Given the description of an element on the screen output the (x, y) to click on. 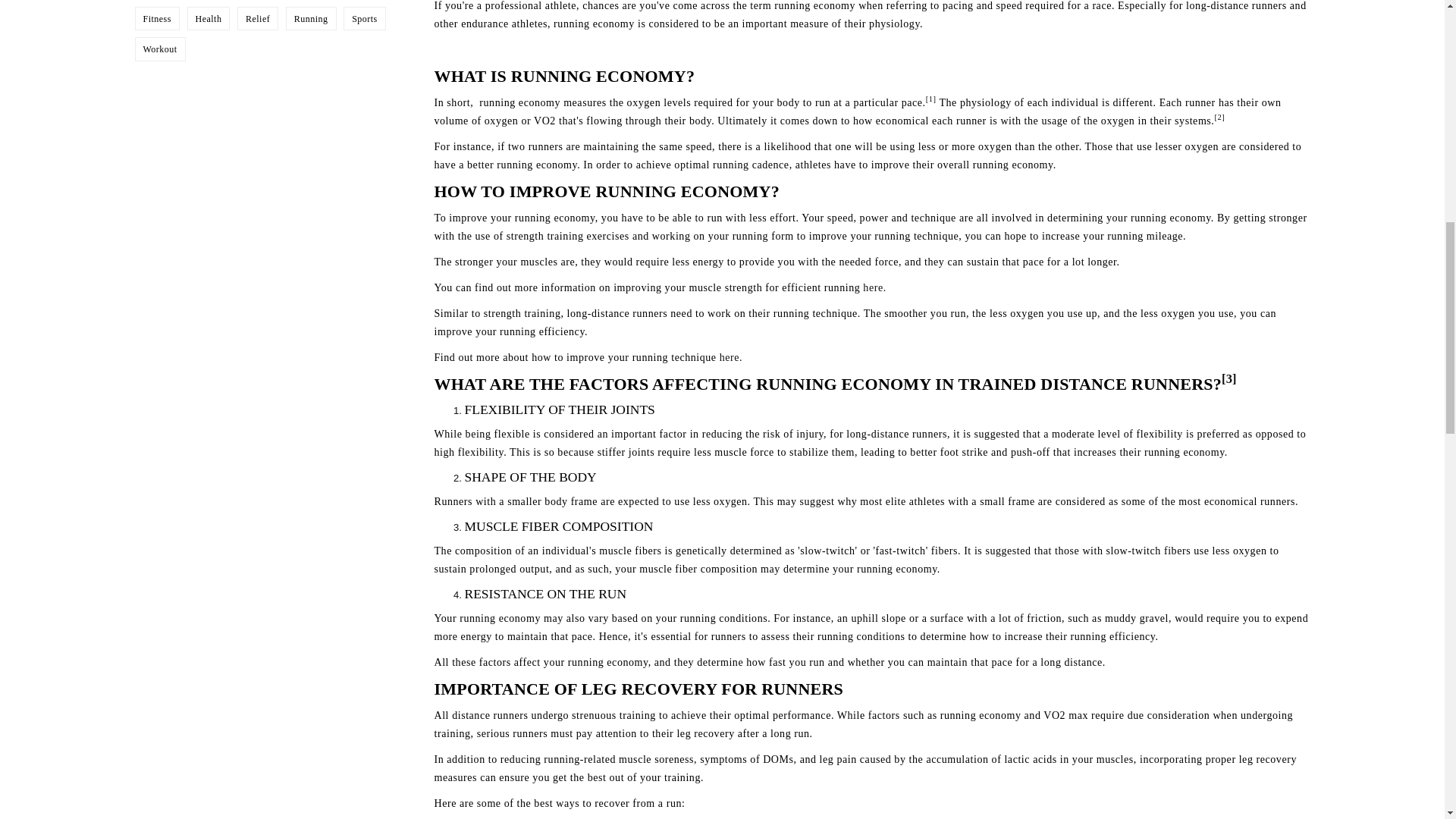
Fitness (156, 18)
Show articles tagged Sports (364, 18)
Show articles tagged Running (311, 18)
Relief (257, 18)
Show articles tagged Relief (257, 18)
Sports (364, 18)
Show articles tagged Workout (159, 49)
Running (311, 18)
Show articles tagged Health (208, 18)
Workout (159, 49)
